Given the description of an element on the screen output the (x, y) to click on. 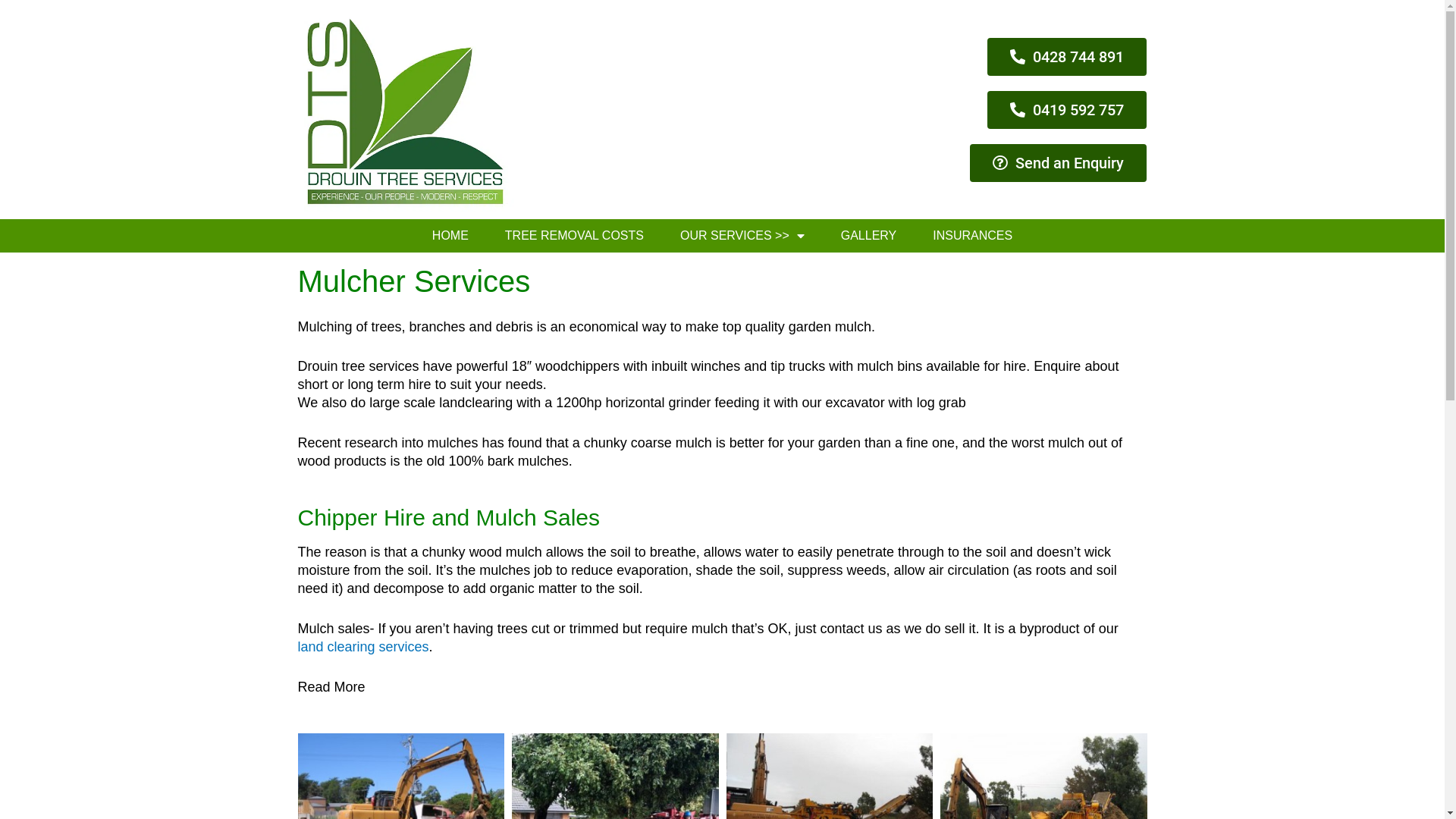
Read More Element type: text (330, 686)
land clearing services Element type: text (362, 646)
0419 592 757 Element type: text (1066, 109)
OUR SERVICES >> Element type: text (742, 235)
Send an Enquiry Element type: text (1057, 163)
TREE REMOVAL COSTS Element type: text (573, 235)
INSURANCES Element type: text (972, 235)
GALLERY Element type: text (868, 235)
HOME Element type: text (450, 235)
0428 744 891 Element type: text (1066, 56)
